Given the description of an element on the screen output the (x, y) to click on. 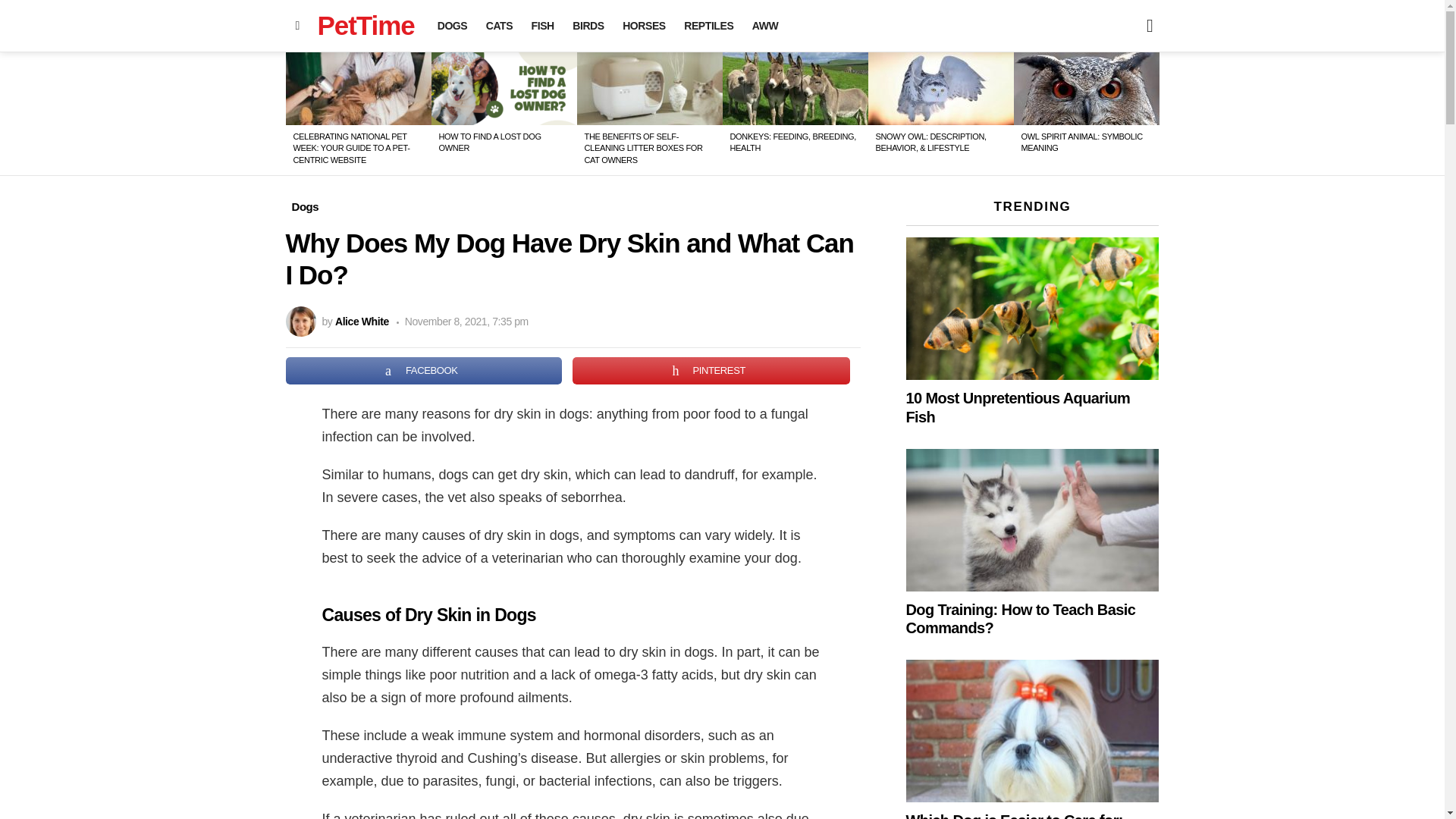
REPTILES (709, 25)
THE BENEFITS OF SELF-CLEANING LITTER BOXES FOR CAT OWNERS (642, 147)
DOGS (452, 25)
AWW (765, 25)
PetTime (365, 25)
Donkeys: Feeding, Breeding, Health (794, 88)
CATS (499, 25)
Share on Facebook (422, 370)
Menu (296, 25)
PINTEREST (711, 370)
